Given the description of an element on the screen output the (x, y) to click on. 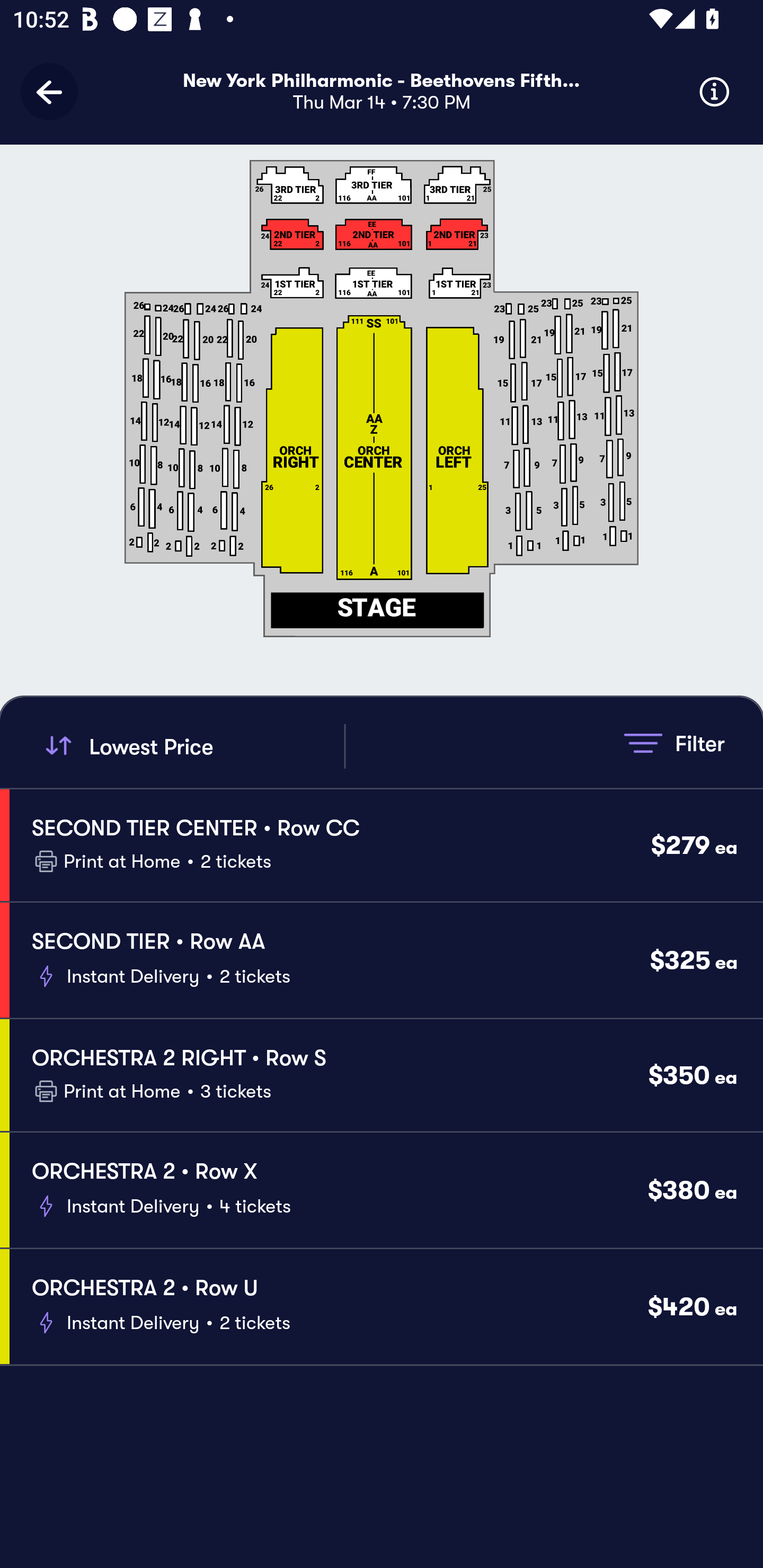
Lowest Price (191, 746)
Filter (674, 743)
